Given the description of an element on the screen output the (x, y) to click on. 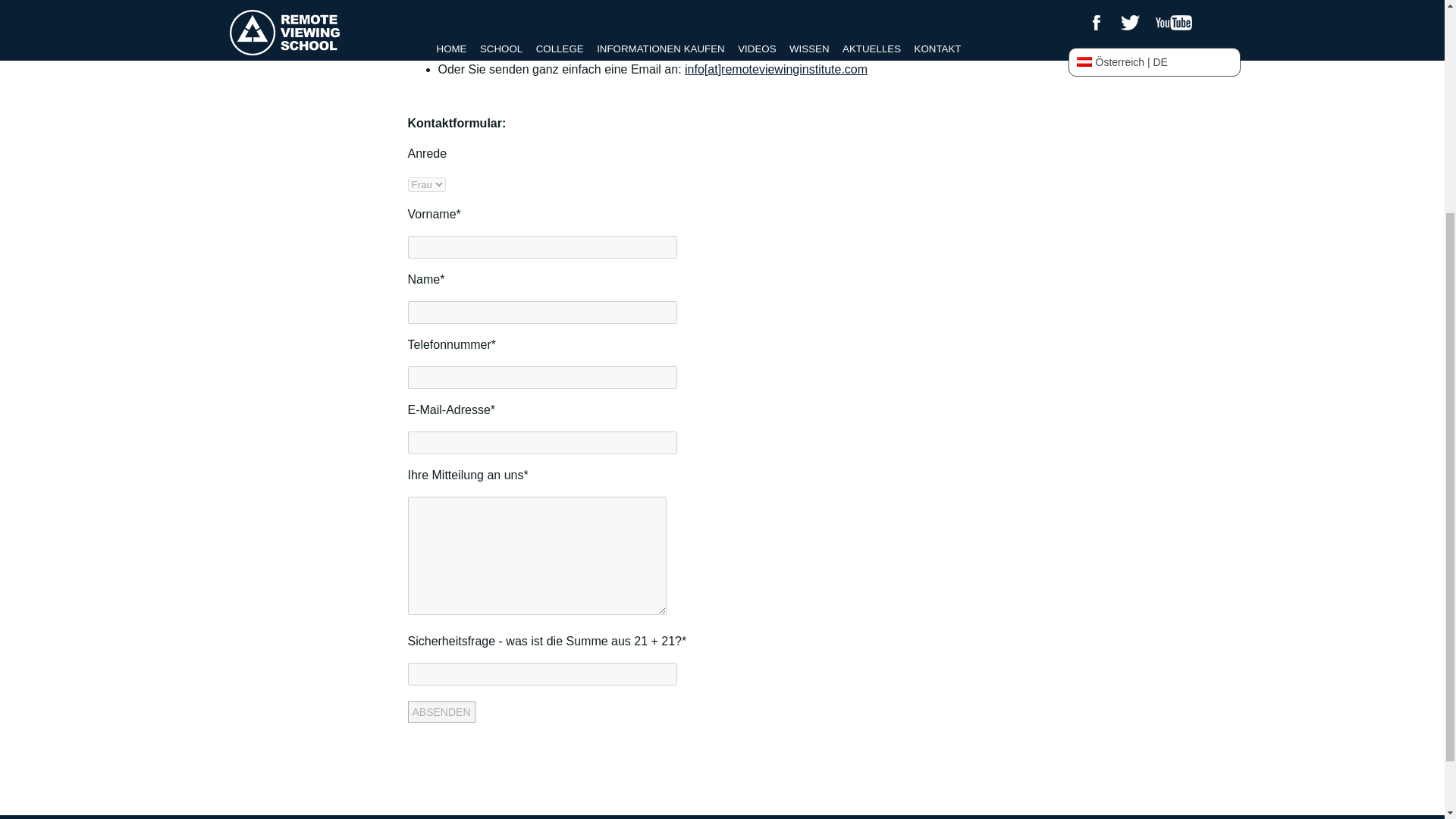
Absenden (441, 711)
